Given the description of an element on the screen output the (x, y) to click on. 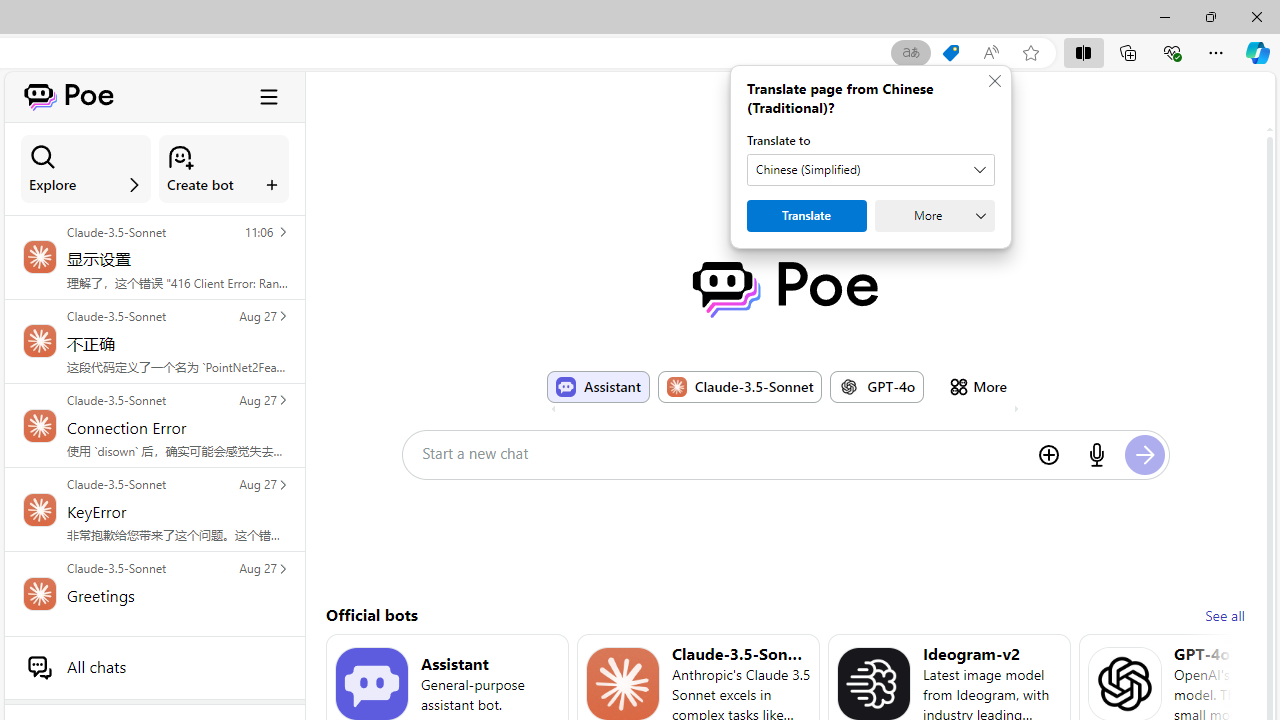
Class: ManageBotsCardSection_searchIcon__laGLi (43, 157)
Bot image for GPT-4o (849, 385)
Translate to (870, 169)
Bot image for GPT-4o-Mini (1124, 683)
More (977, 385)
Class: ToggleSidebarCollapseButton_hamburgerIcon__VuiyV (269, 96)
Poe (785, 289)
All chats (154, 667)
